Given the description of an element on the screen output the (x, y) to click on. 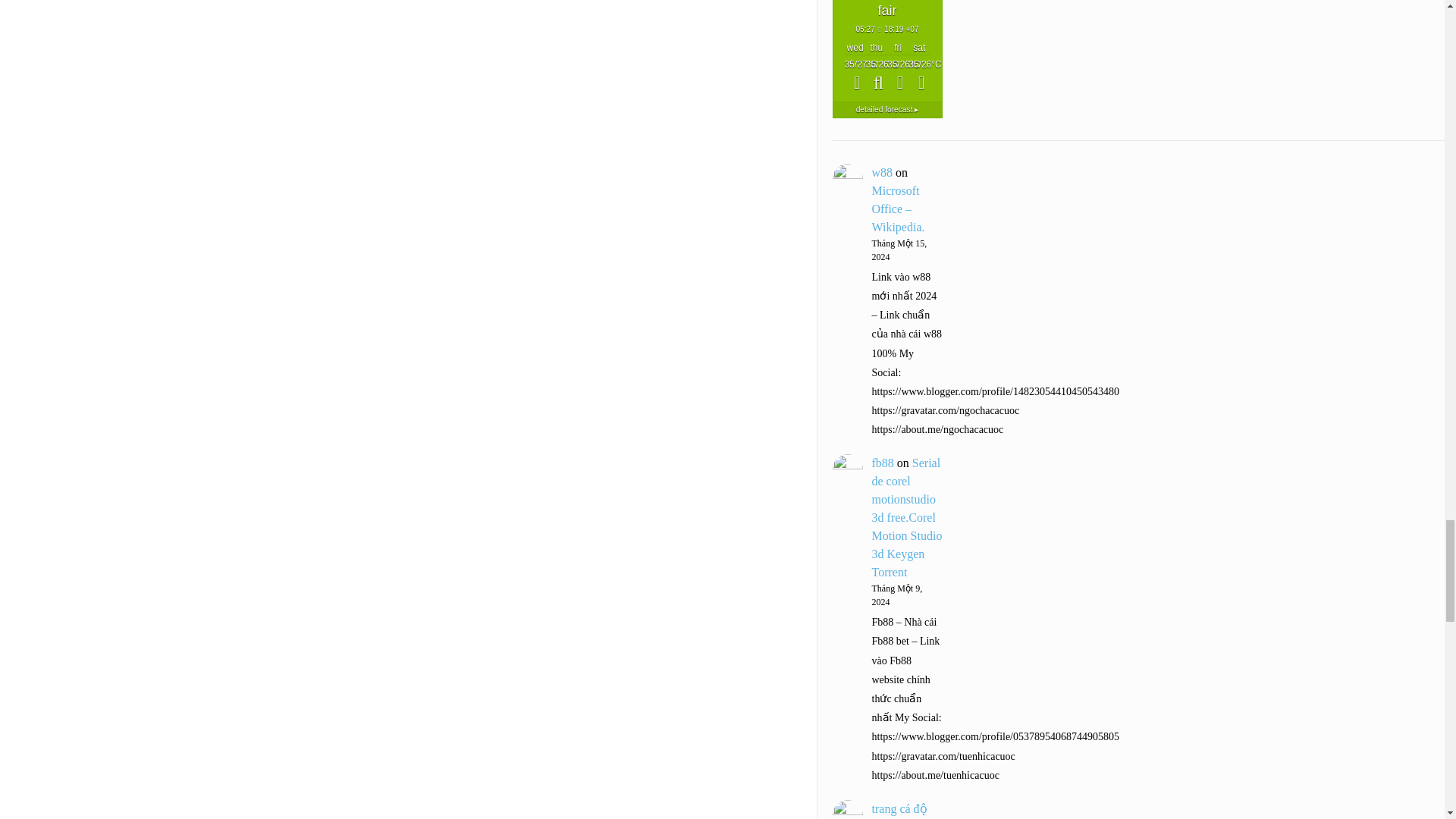
Weather Atlas - Weather forecast Da Nang, Vietnam (887, 109)
